Given the description of an element on the screen output the (x, y) to click on. 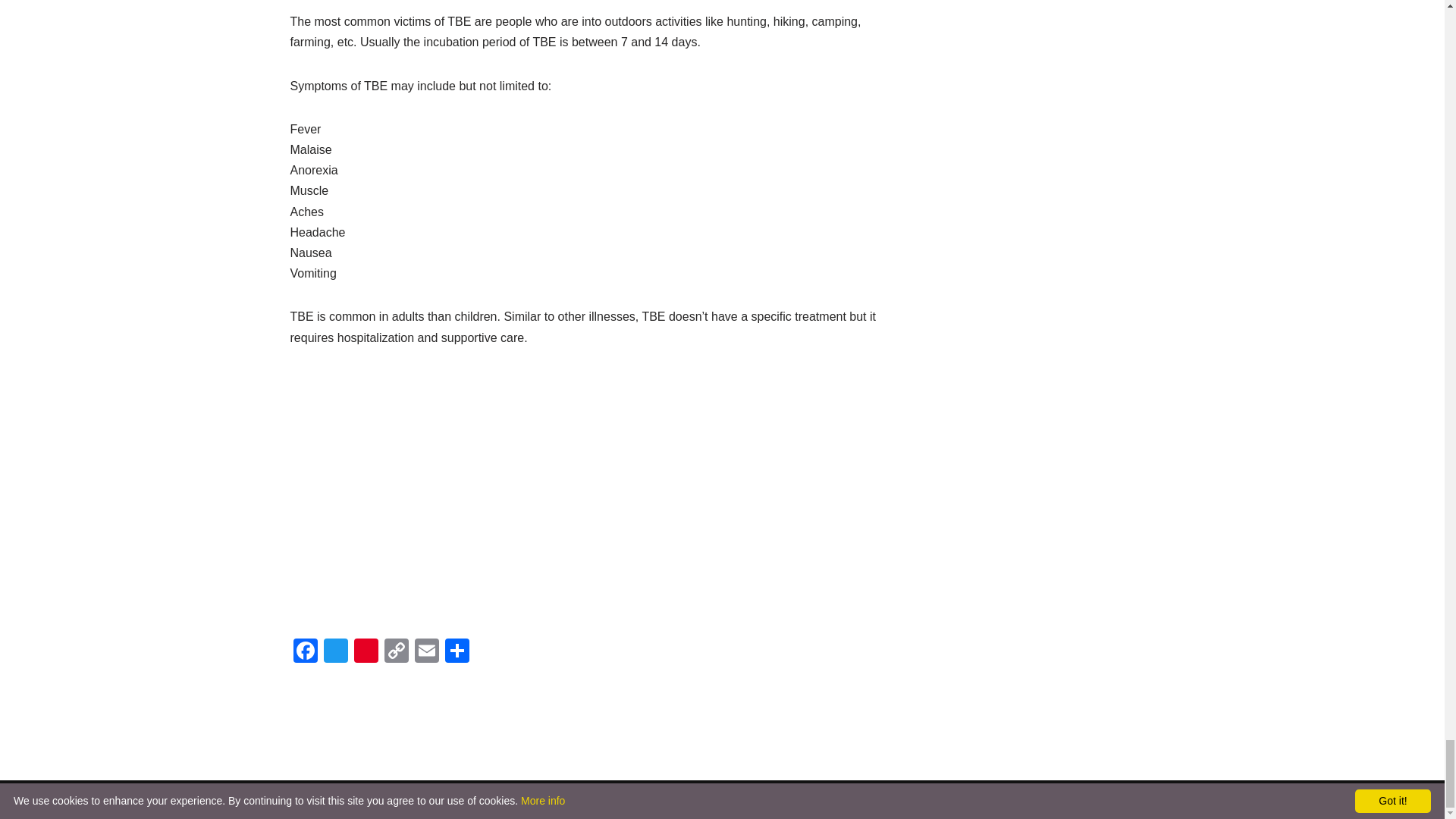
Pinterest (365, 652)
Twitter (335, 652)
Twitter (335, 652)
Copy Link (395, 652)
Email (425, 652)
Email (425, 652)
Facebook (304, 652)
Facebook (304, 652)
Pinterest (365, 652)
Copy Link (395, 652)
